Given the description of an element on the screen output the (x, y) to click on. 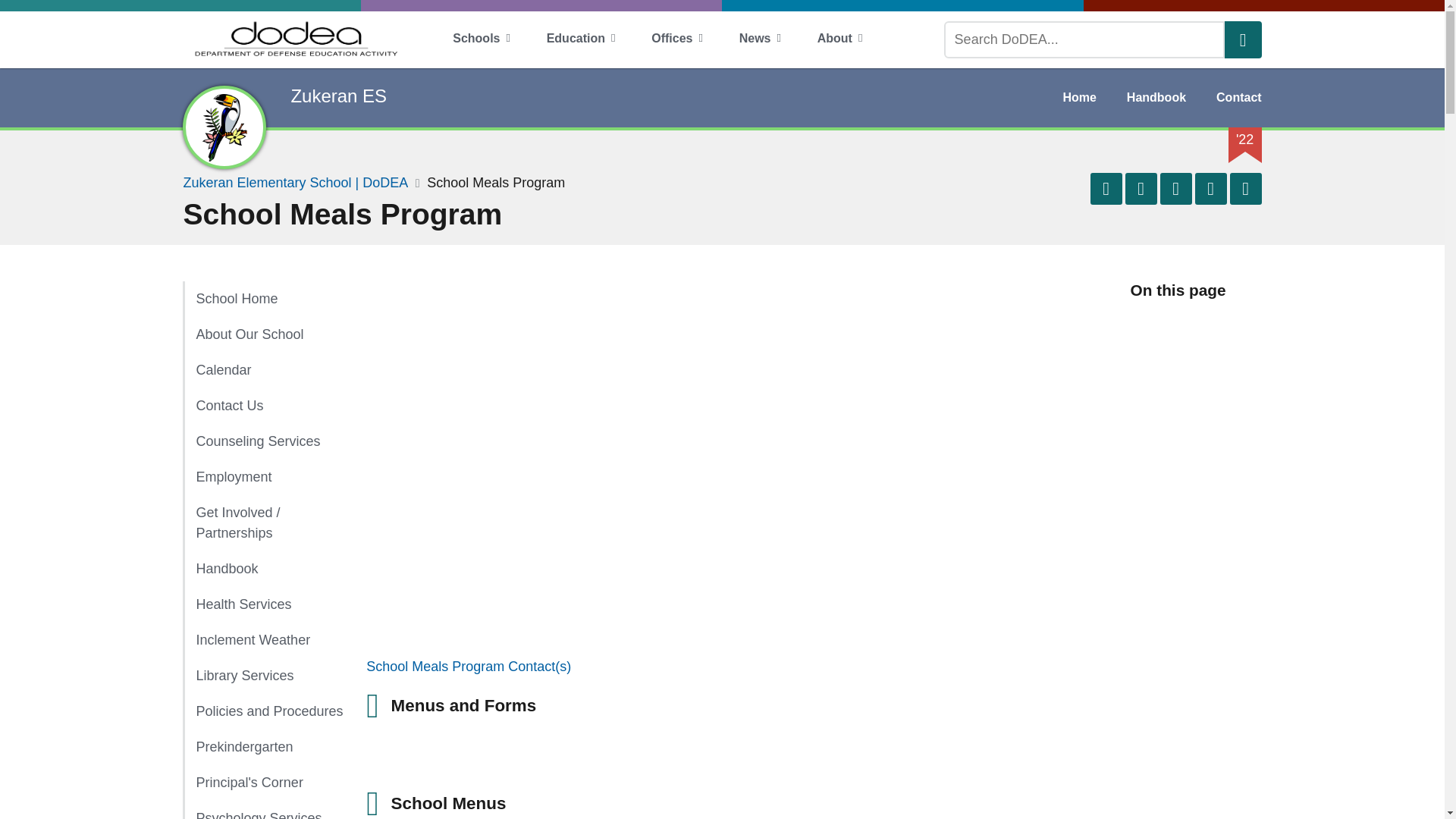
Schools (481, 39)
Education (580, 39)
Offices (676, 39)
Inclement Weather (263, 640)
Share this on LinkedIn (1176, 188)
Home (263, 298)
Share this on Twitter (1141, 188)
Zukeran Elementary School 2022 Cognia System of Distinction (1245, 139)
Download this page as a PDF (1211, 188)
